Given the description of an element on the screen output the (x, y) to click on. 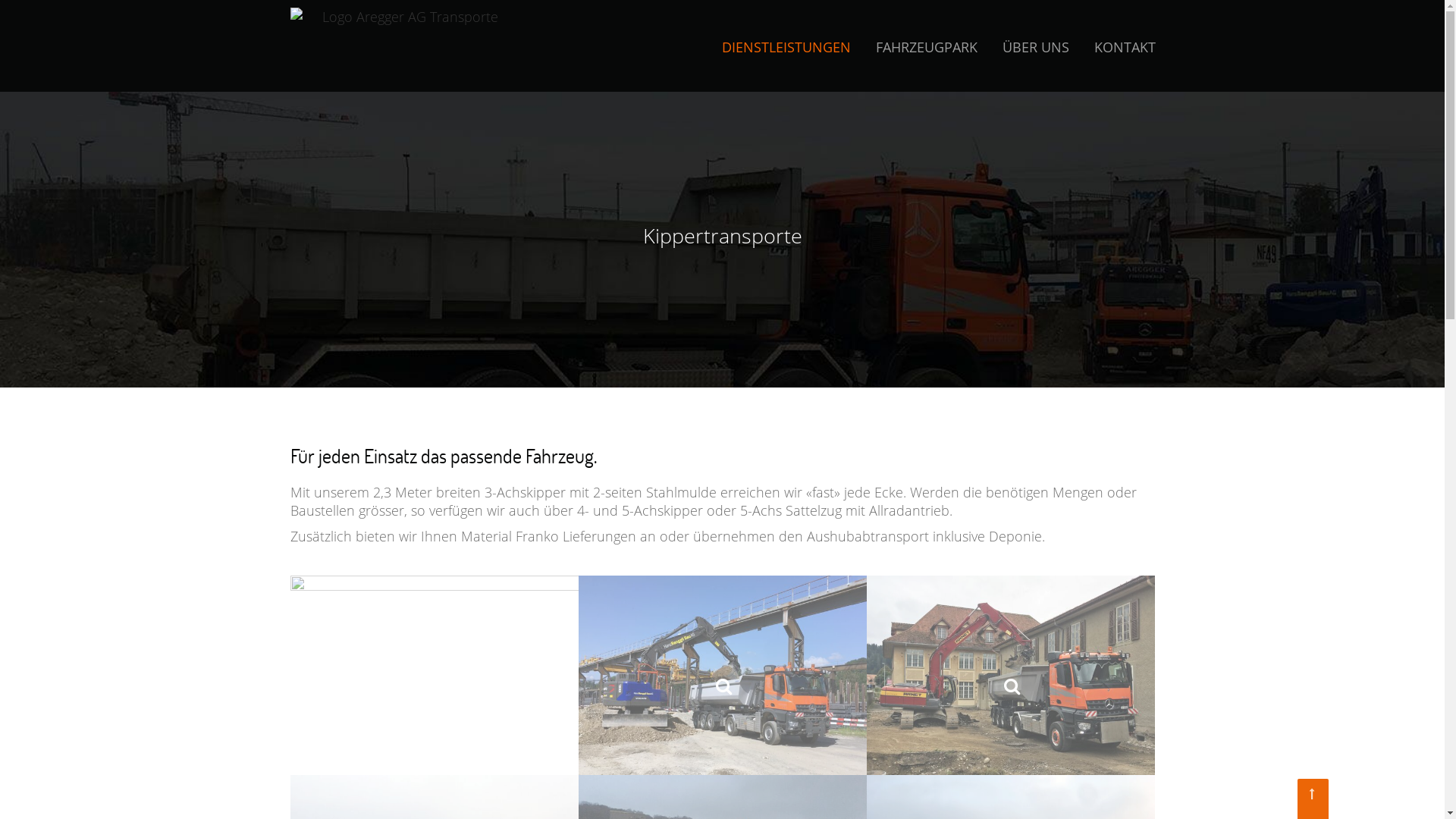
KONTAKT Element type: text (1124, 47)
DIENSTLEISTUNGEN Element type: text (785, 47)
Zur Startseite Element type: hover (425, 45)
FAHRZEUGPARK Element type: text (926, 47)
